Given the description of an element on the screen output the (x, y) to click on. 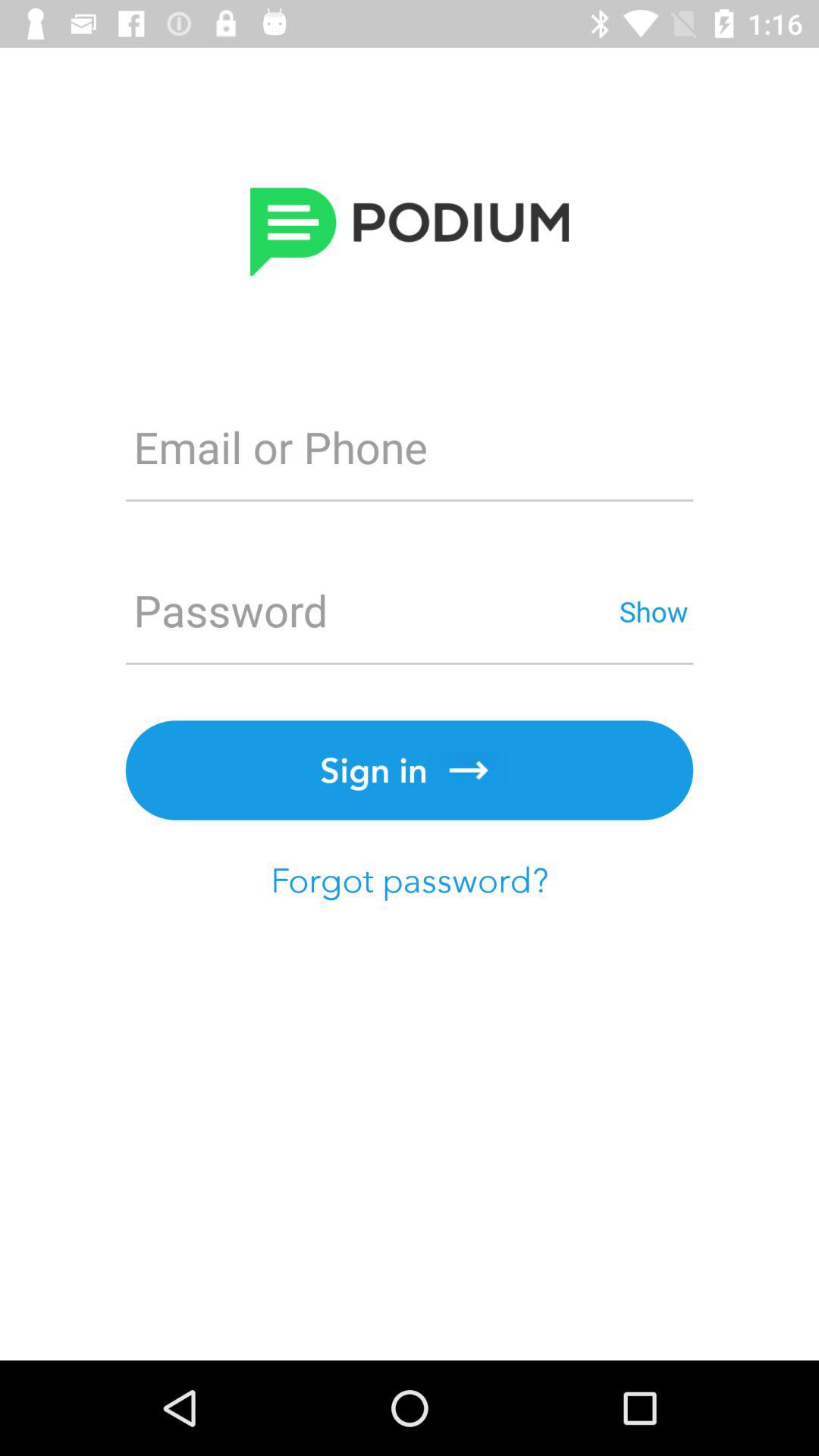
turn off icon to the left of the show item (369, 610)
